Given the description of an element on the screen output the (x, y) to click on. 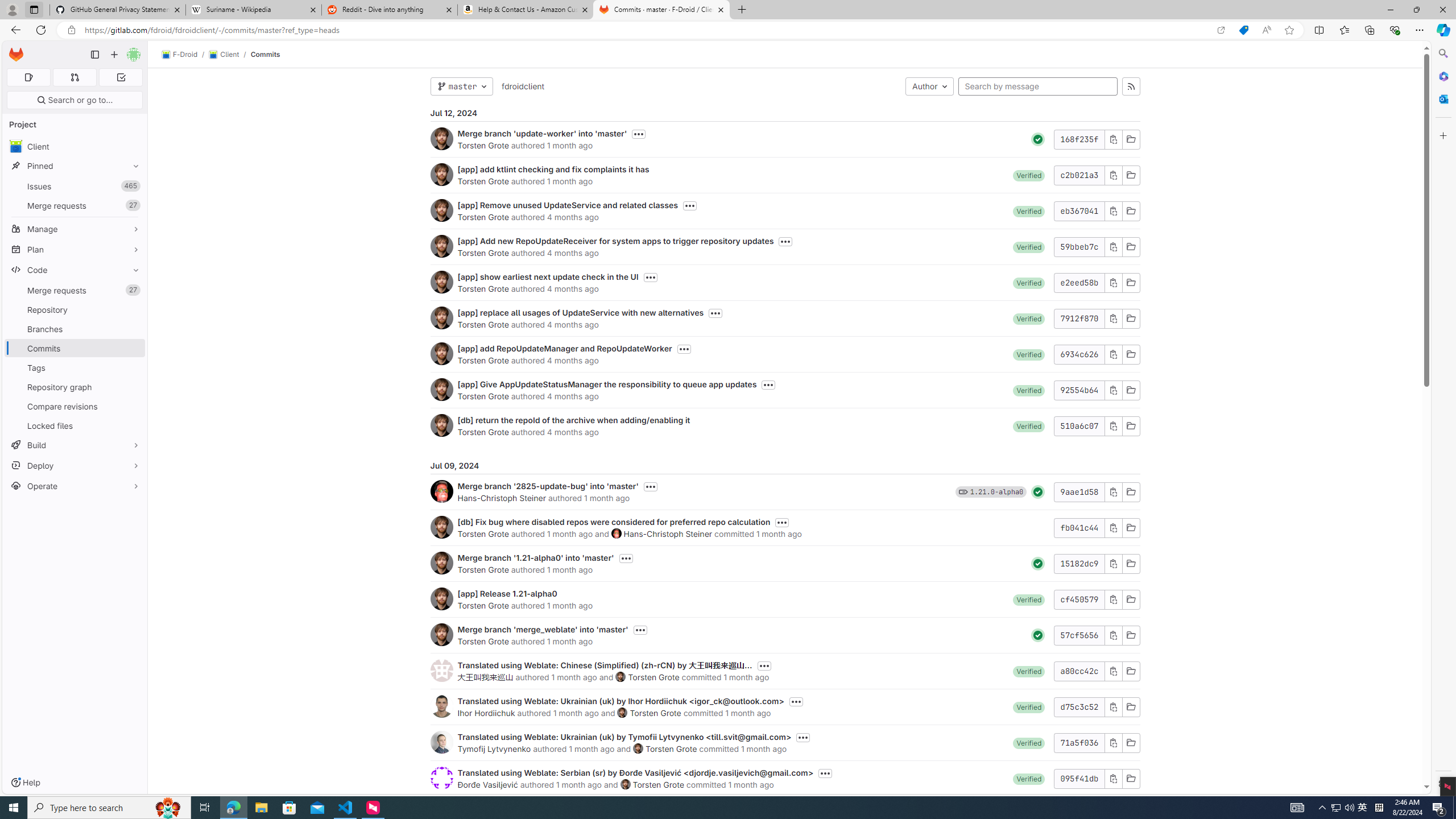
Operate (74, 485)
F-Droid/ (185, 54)
Search (1442, 53)
Class: s16 gl-icon gl-badge-icon (963, 491)
Primary navigation sidebar (94, 54)
GitHub General Privacy Statement - GitHub Docs (117, 9)
master (461, 85)
Merge branch 'merge_weblate' into 'master' (542, 628)
Client (74, 145)
Class: s16 (1130, 777)
Toggle commit description (825, 773)
Suriname - Wikipedia (253, 9)
Address and search bar (647, 29)
